Given the description of an element on the screen output the (x, y) to click on. 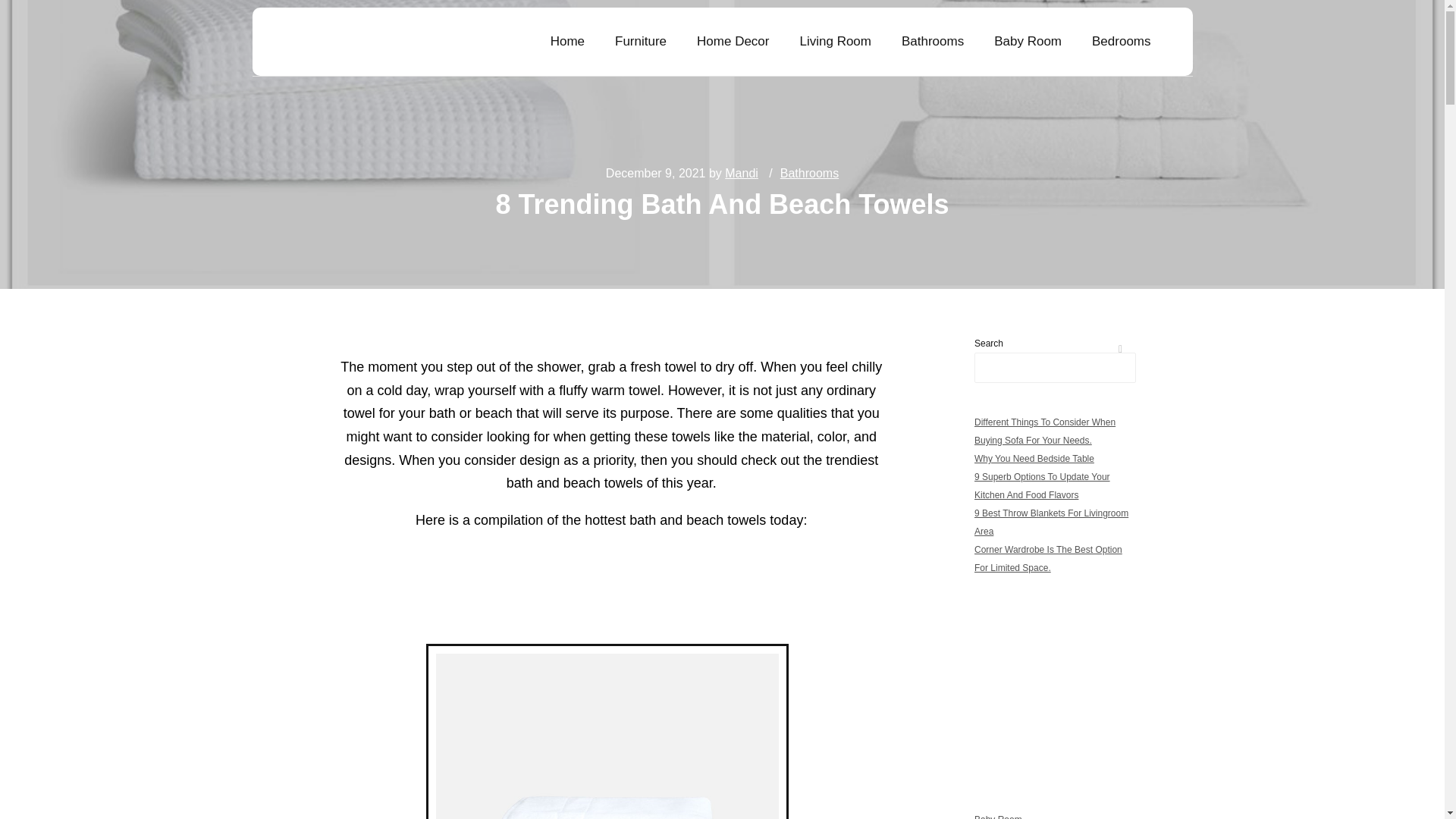
Bathrooms (932, 41)
Baby Room (1027, 41)
Bedrooms (1121, 41)
Here Is Home Decor (354, 42)
Home Decor (732, 41)
Living Room (835, 41)
Furniture (640, 41)
Home (567, 41)
